Given the description of an element on the screen output the (x, y) to click on. 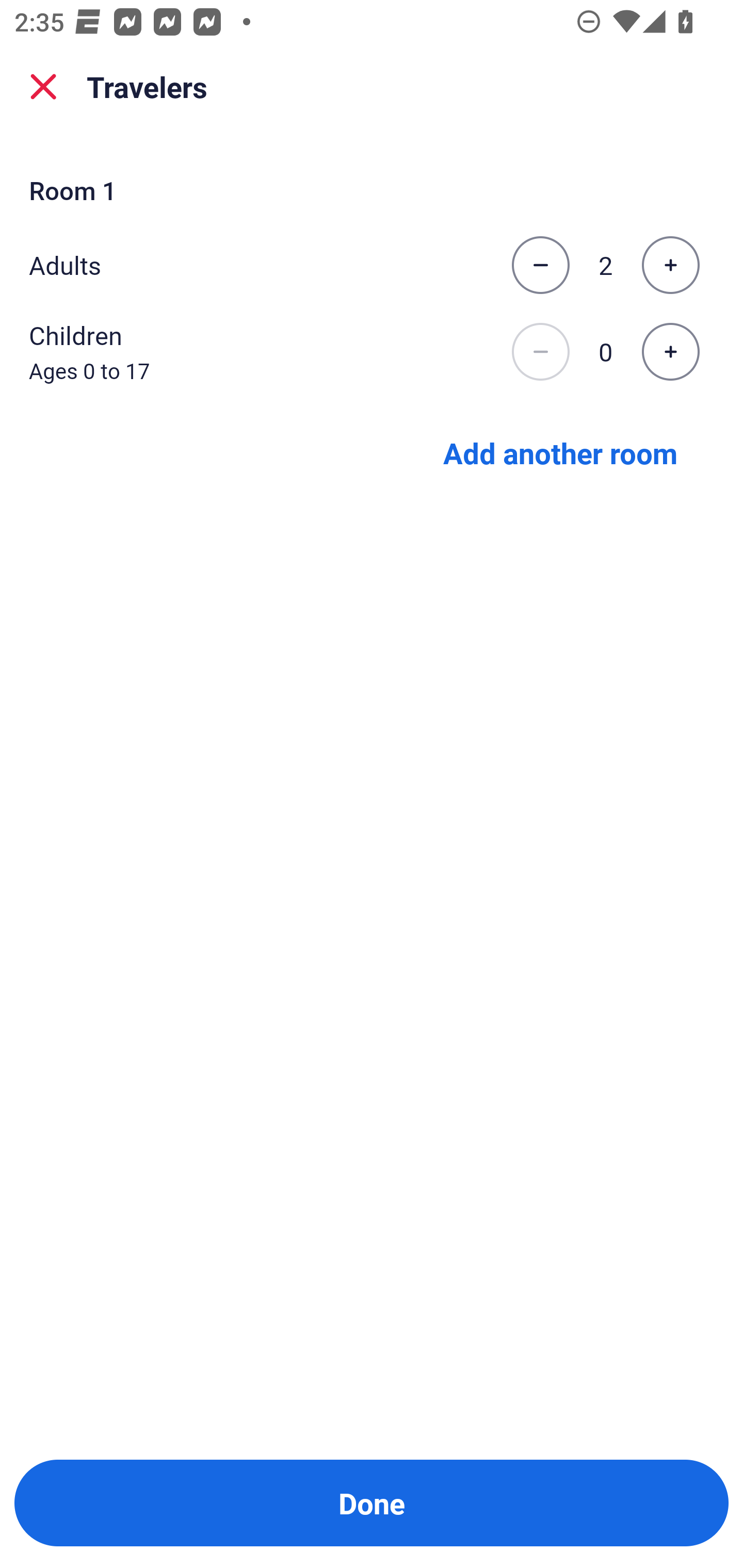
close (43, 86)
Decrease the number of adults (540, 264)
Increase the number of adults (670, 264)
Decrease the number of children (540, 351)
Increase the number of children (670, 351)
Add another room (560, 452)
Done (371, 1502)
